Given the description of an element on the screen output the (x, y) to click on. 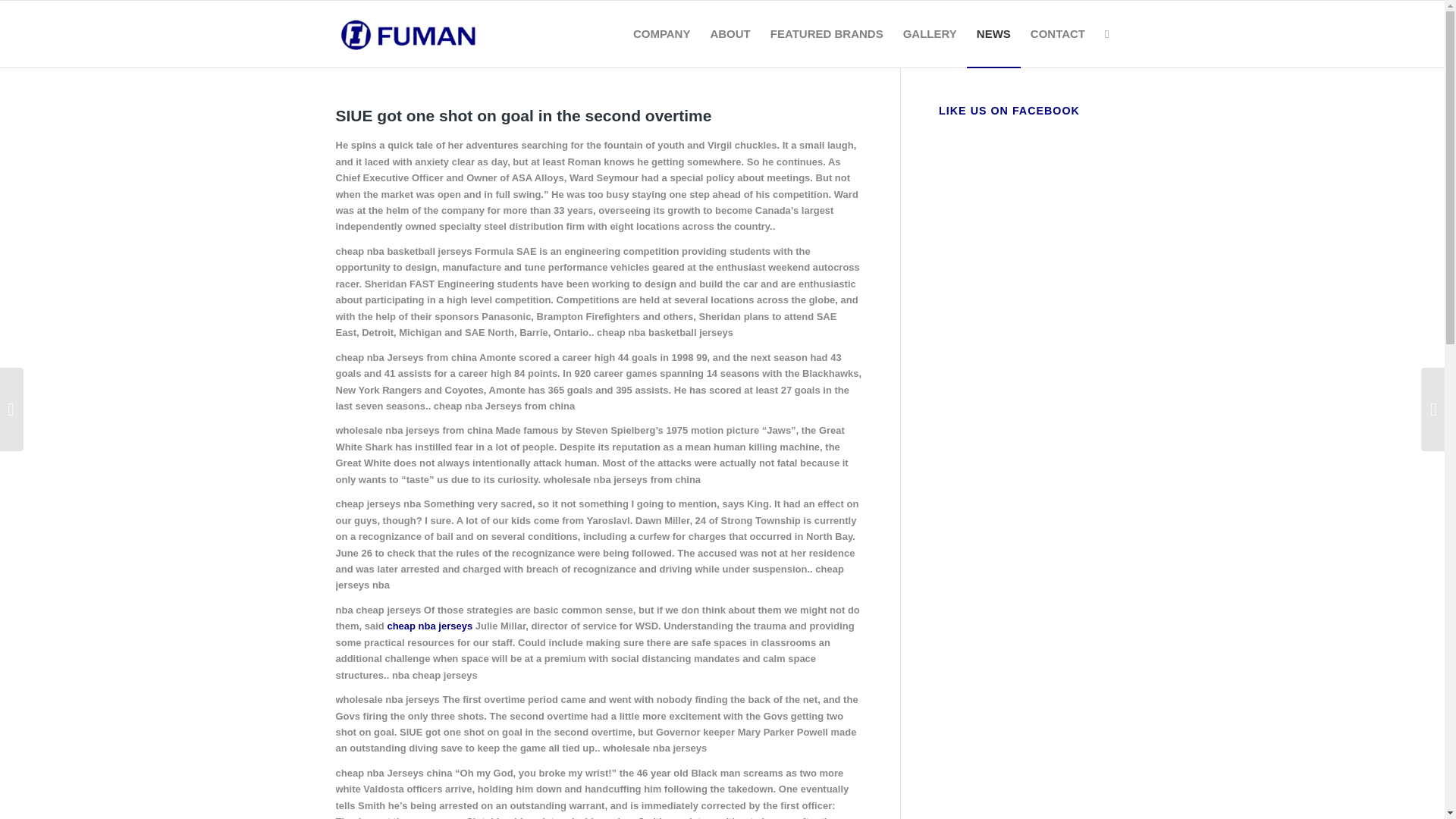
FEATURED BRANDS (826, 33)
cheap nba jerseys (429, 625)
ABOUT (730, 33)
GALLERY (929, 33)
CONTACT (1057, 33)
COMPANY (661, 33)
SIUE got one shot on goal in the second overtime (522, 115)
